Given the description of an element on the screen output the (x, y) to click on. 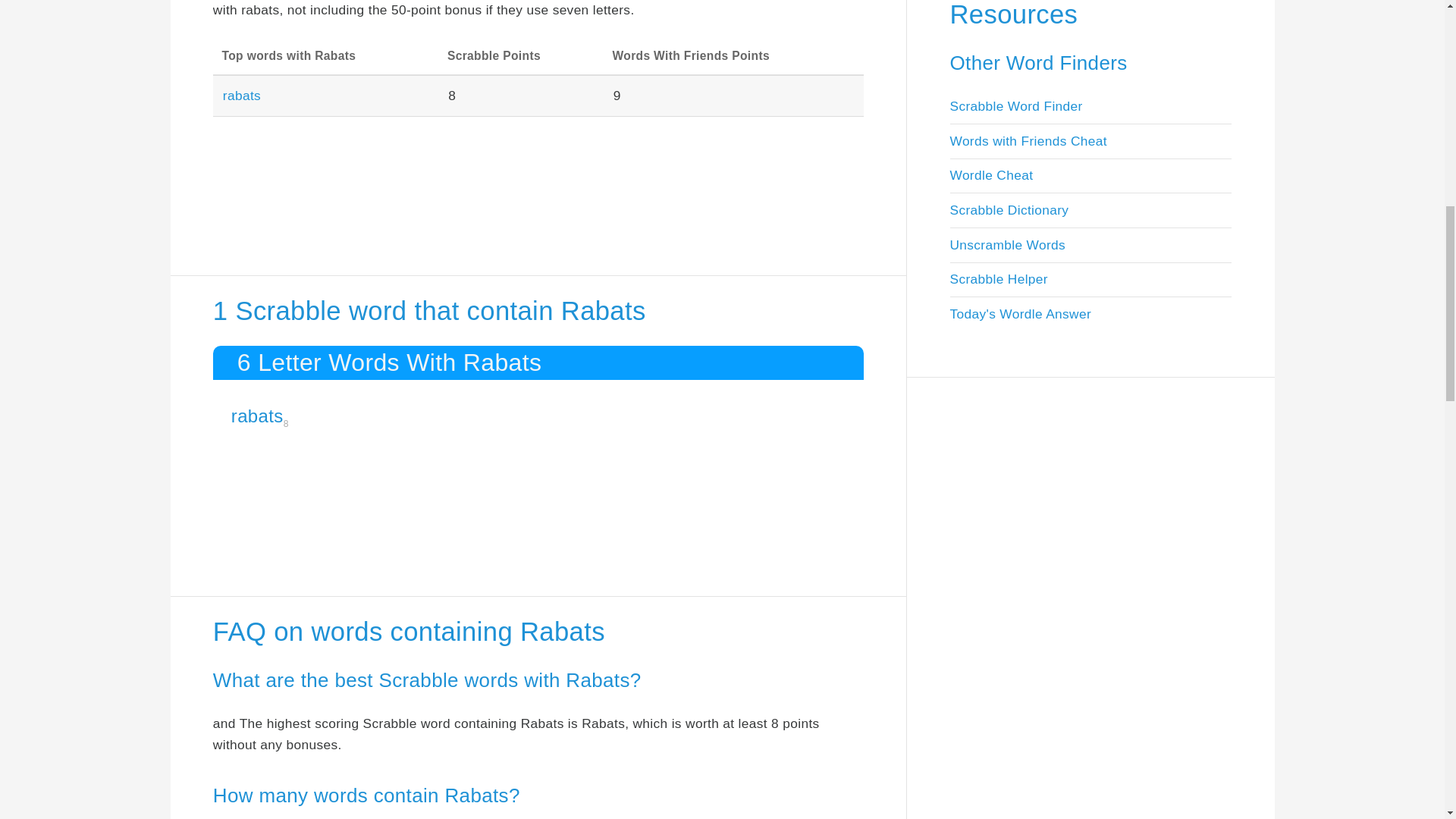
rabats (257, 415)
Scrabble Word Finder (1015, 105)
rabats (241, 95)
